Given the description of an element on the screen output the (x, y) to click on. 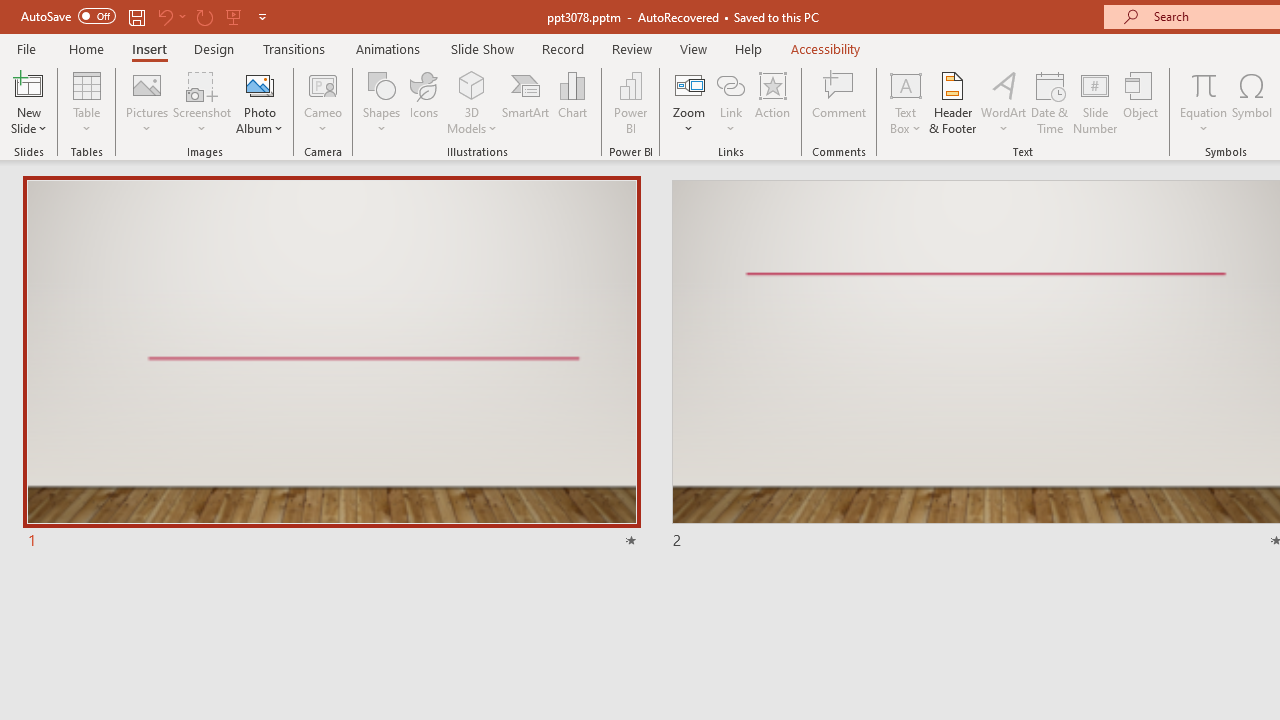
Draw Horizontal Text Box (905, 84)
Power BI (630, 102)
New Photo Album... (259, 84)
